Given the description of an element on the screen output the (x, y) to click on. 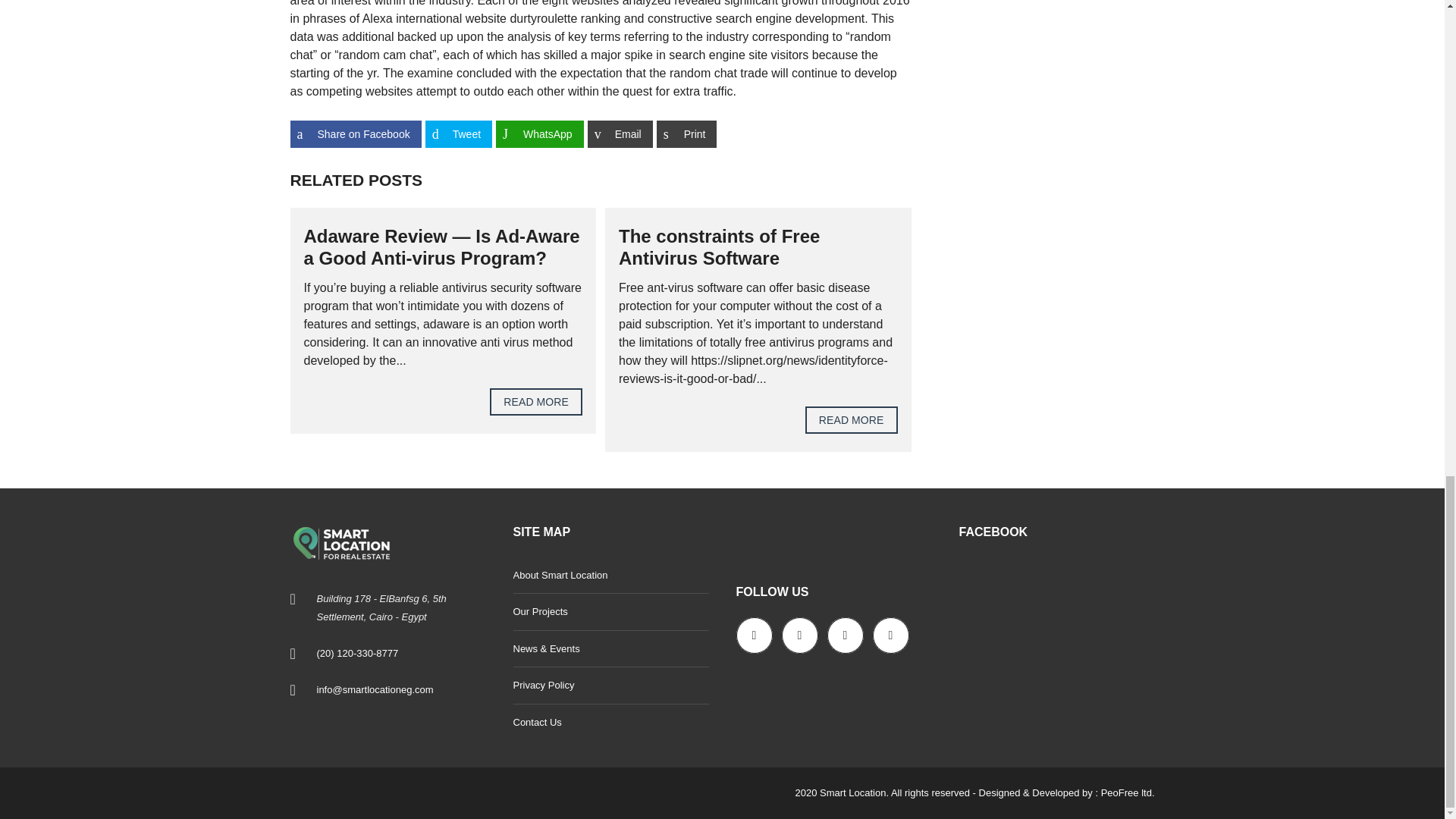
Tweet (458, 134)
Share on Email (620, 134)
The constraints of Free Antivirus Software (718, 247)
WhatsApp (539, 134)
READ MORE (851, 420)
Share on Share on Facebook (354, 134)
Email (620, 134)
Share on WhatsApp (539, 134)
Share on Print (686, 134)
Share on Tweet (458, 134)
